Given the description of an element on the screen output the (x, y) to click on. 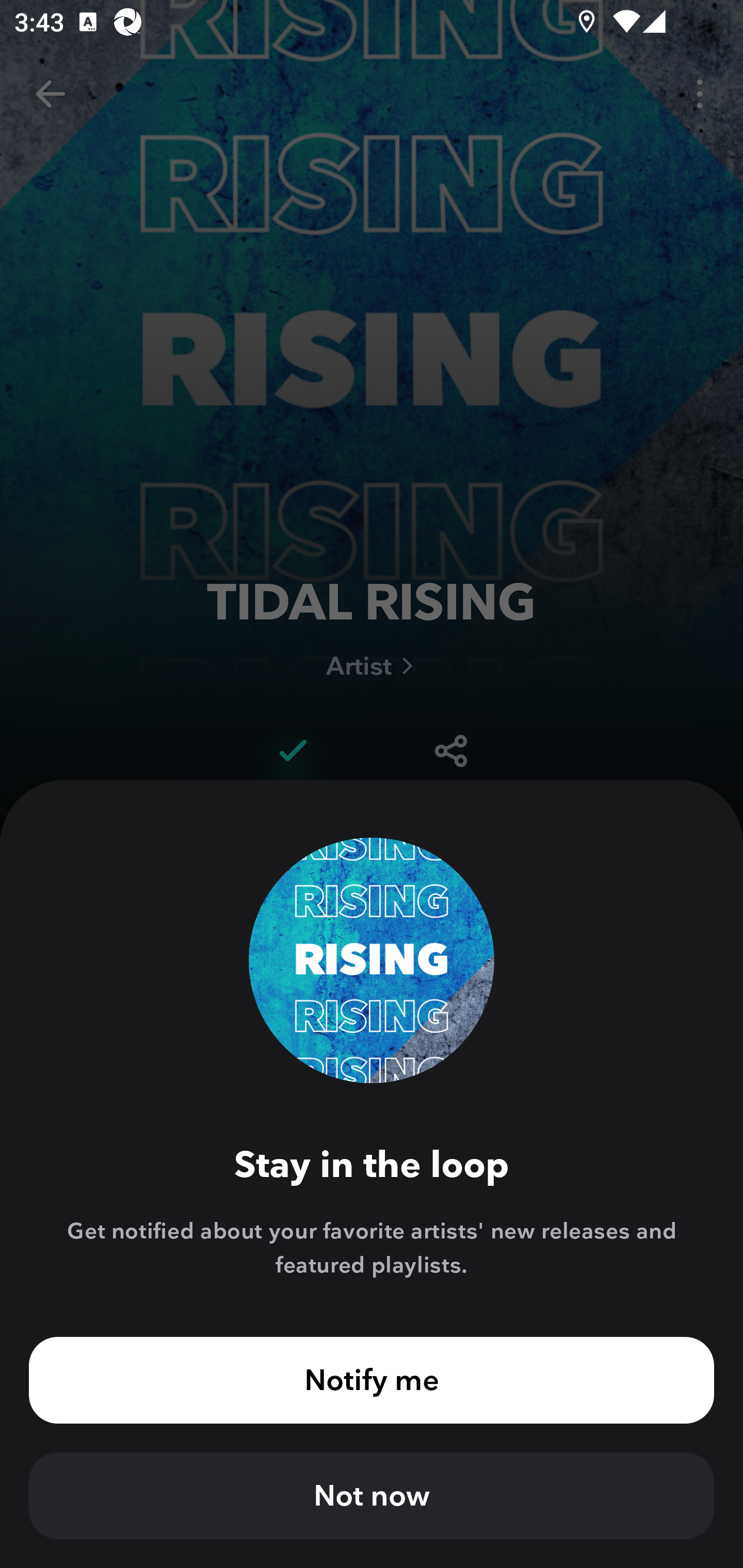
Notify me (371, 1380)
Not now (371, 1495)
